Given the description of an element on the screen output the (x, y) to click on. 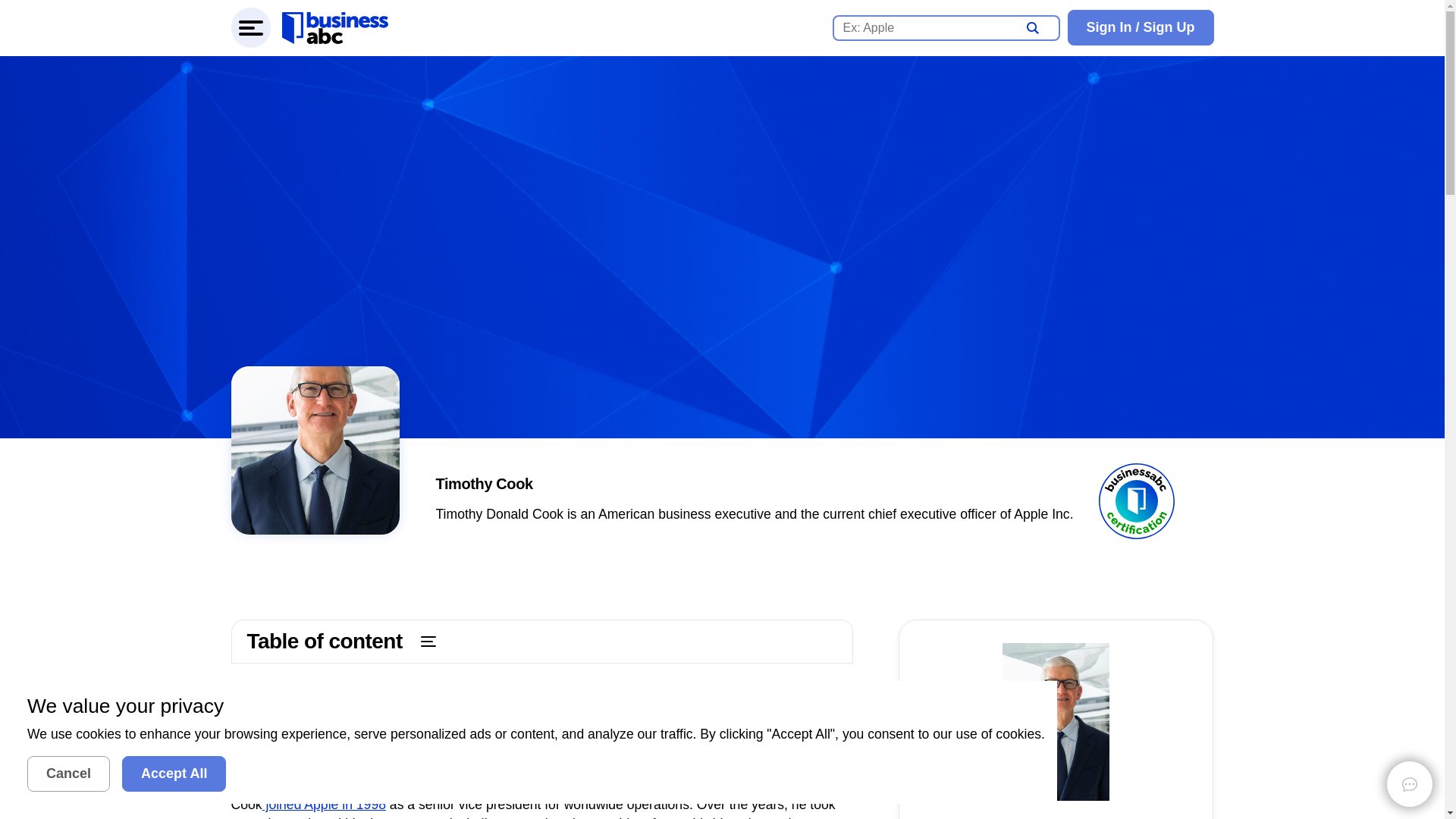
Accept All (173, 773)
Cancel (68, 773)
joined Apple in 1998 (323, 804)
a prominent figure in the technology industry (659, 773)
Table of content (541, 640)
Apple Inc (372, 754)
